Given the description of an element on the screen output the (x, y) to click on. 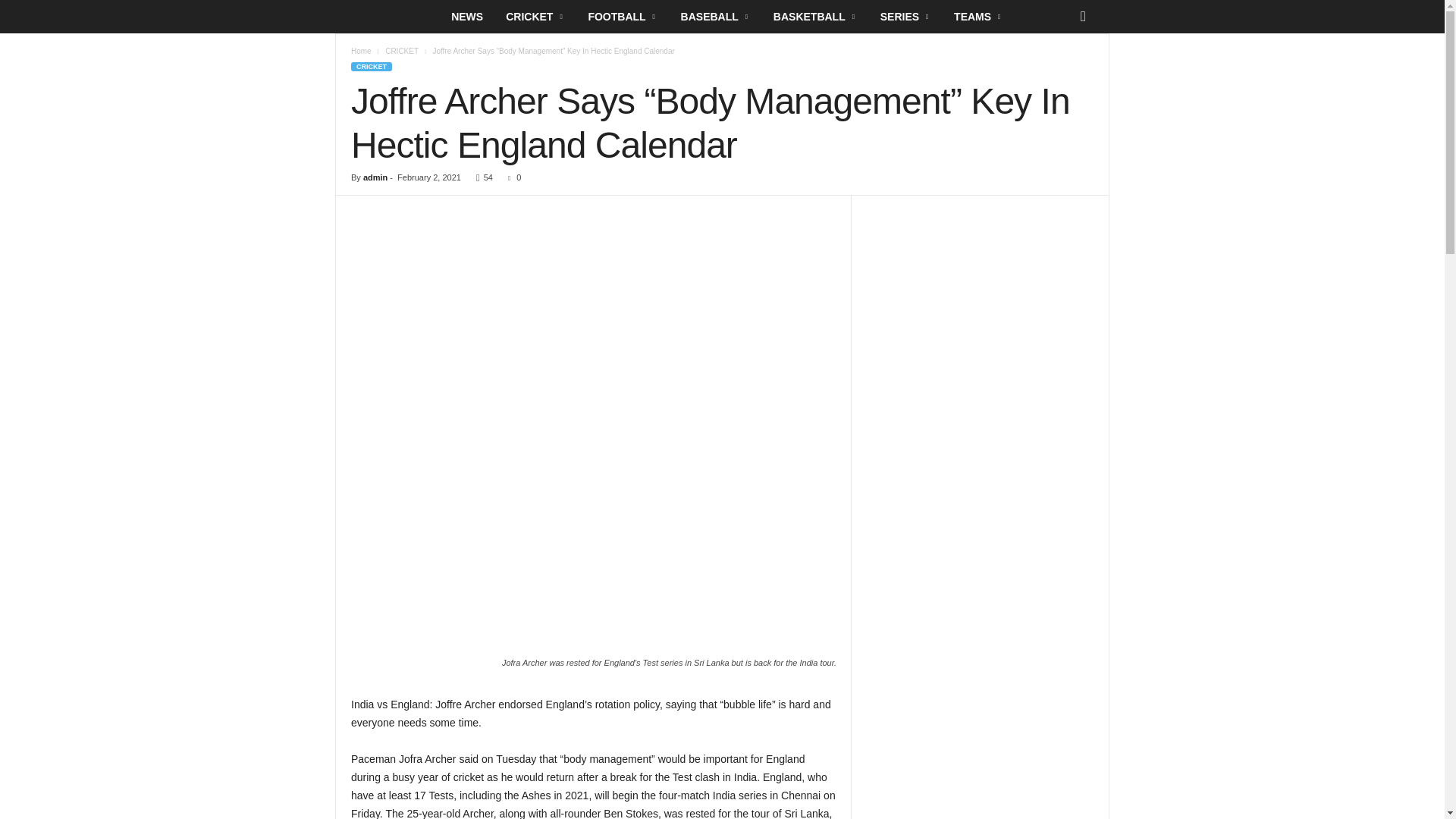
CRICKET (535, 16)
Accurate Fantasy (386, 17)
NEWS (467, 16)
